Given the description of an element on the screen output the (x, y) to click on. 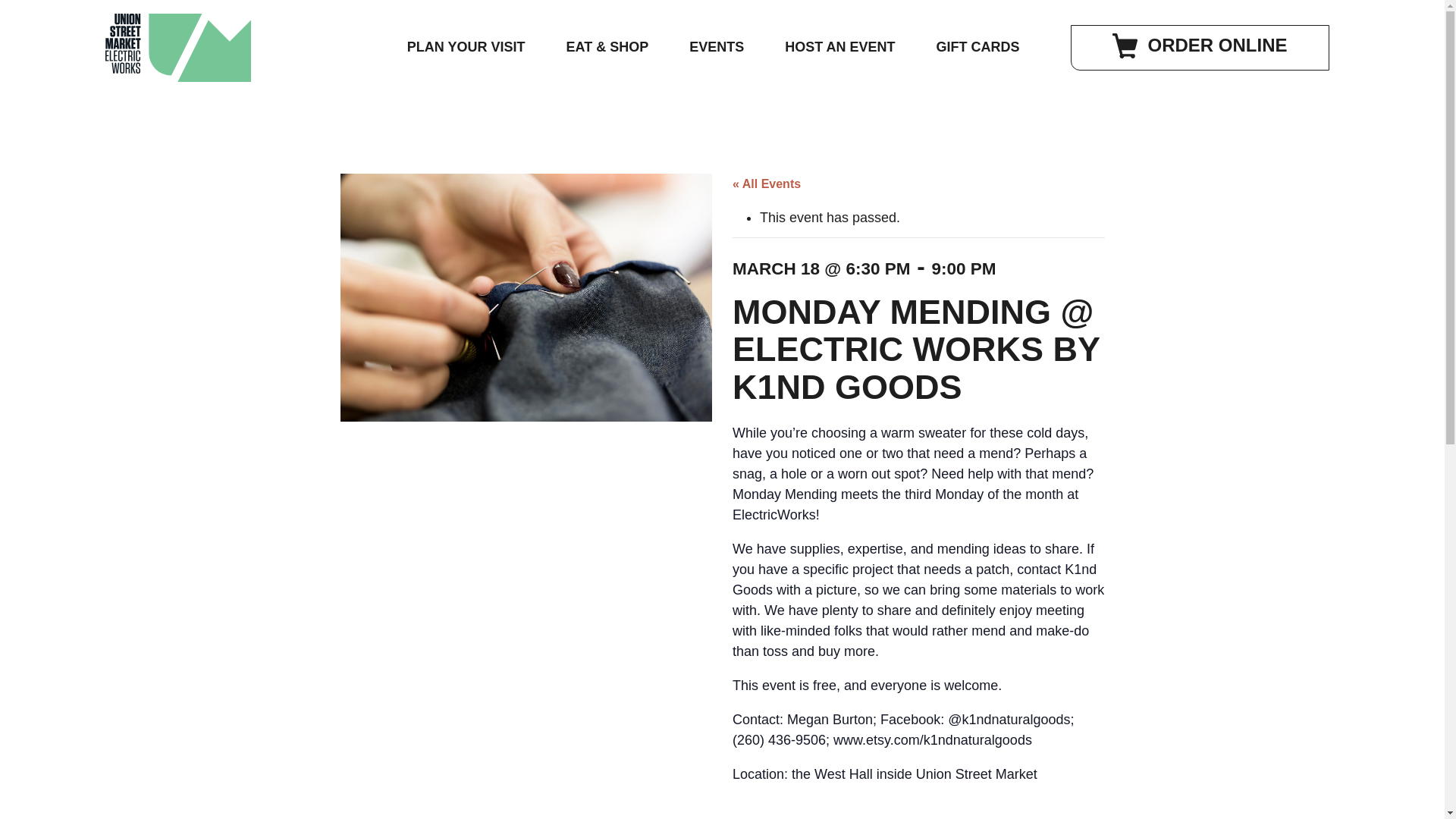
PLAN YOUR VISIT (466, 47)
HOST AN EVENT (839, 47)
ORDER ONLINE (1198, 47)
EVENTS (716, 47)
GIFT CARDS (978, 47)
